Given the description of an element on the screen output the (x, y) to click on. 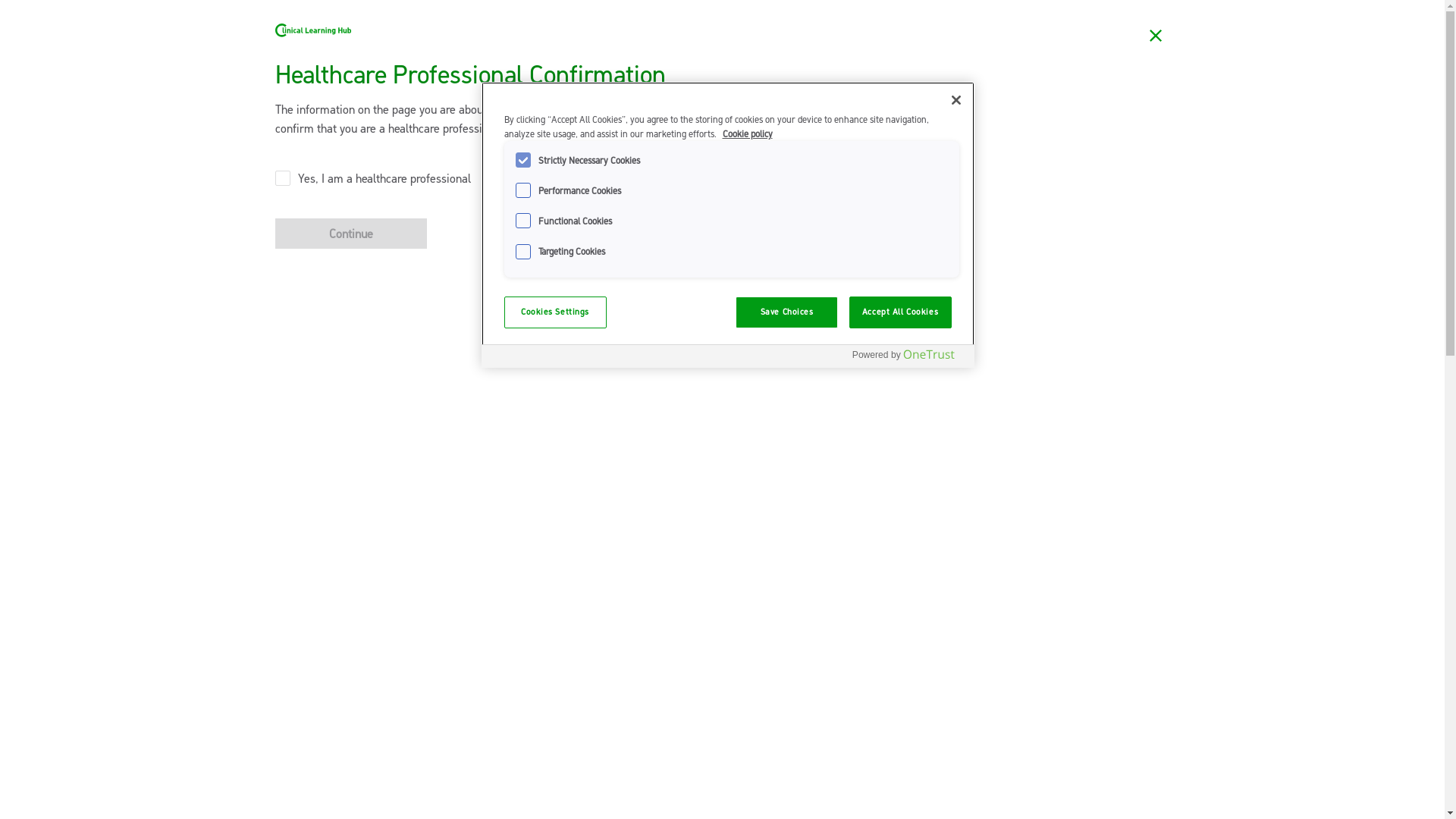
Powered by OneTrust Opens in a new Tab Element type: hover (901, 354)
Continue Element type: text (350, 233)
LINGUAGGIO FR |DE |IT Element type: text (887, 18)
DE Element type: text (927, 18)
Cookies Settings Element type: text (554, 312)
Cookie policy Element type: text (746, 133)
EVIDENZE E APPROFONDIMENTI Element type: text (1077, 74)
Accept All Cookies Element type: text (900, 312)
IT Element type: text (949, 18)
Ulcere da pressione Element type: text (431, 141)
Watch on-demand version Element type: text (350, 451)
Save Choices Element type: text (786, 312)
FR Element type: text (901, 18)
CERCA Element type: text (1121, 18)
Go to startpage Element type: text (319, 74)
SELECT MARKET Element type: text (1027, 18)
